Given the description of an element on the screen output the (x, y) to click on. 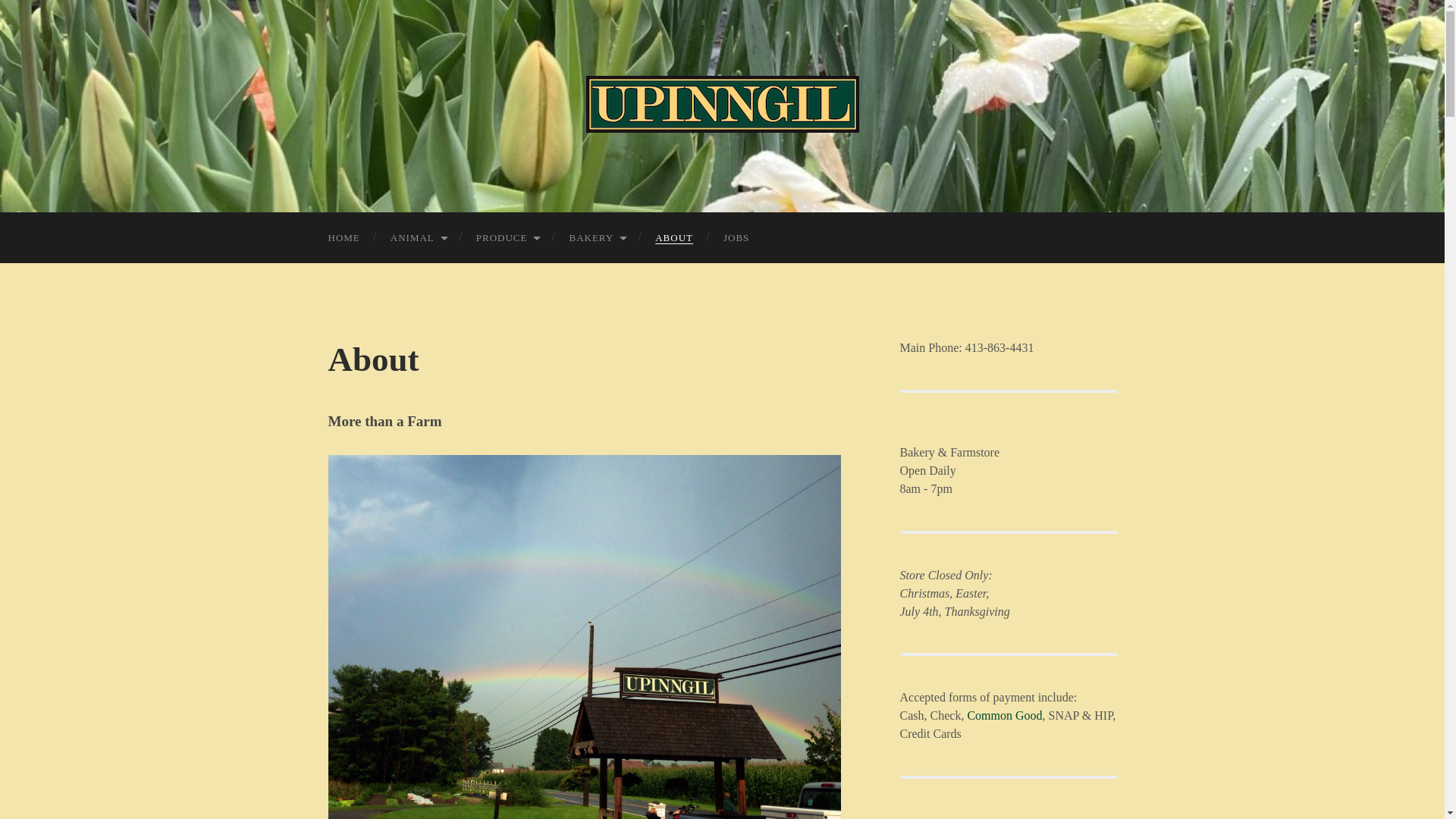
ANIMAL (418, 237)
BAKERY (596, 237)
HOME (343, 237)
Upinngil (722, 104)
PRODUCE (507, 237)
ABOUT (673, 237)
JOBS (735, 237)
